Given the description of an element on the screen output the (x, y) to click on. 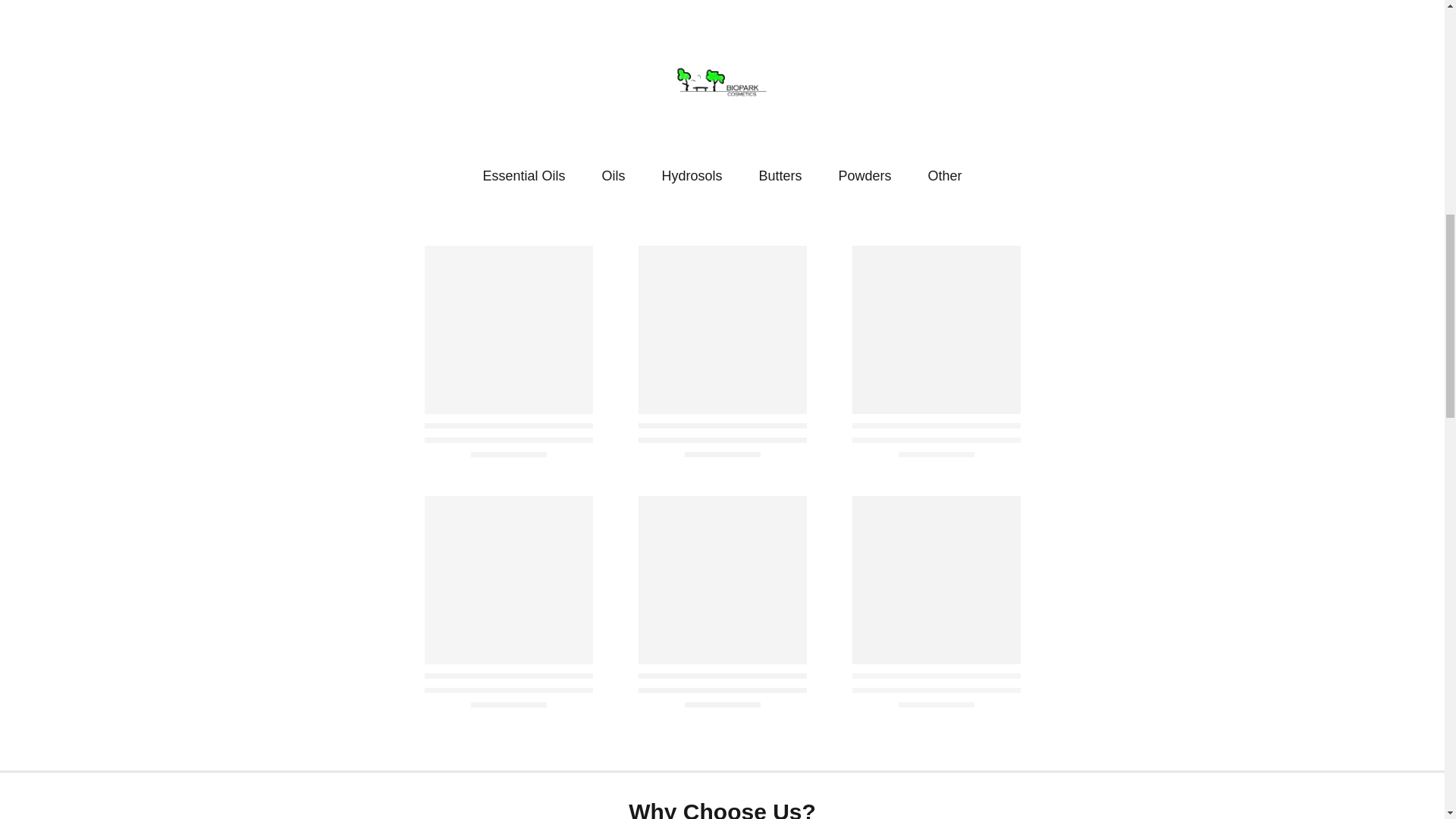
Oils (612, 175)
Butters (780, 175)
Essential Oils (522, 175)
Other (945, 175)
Hydrosols (691, 175)
Powders (864, 175)
